Given the description of an element on the screen output the (x, y) to click on. 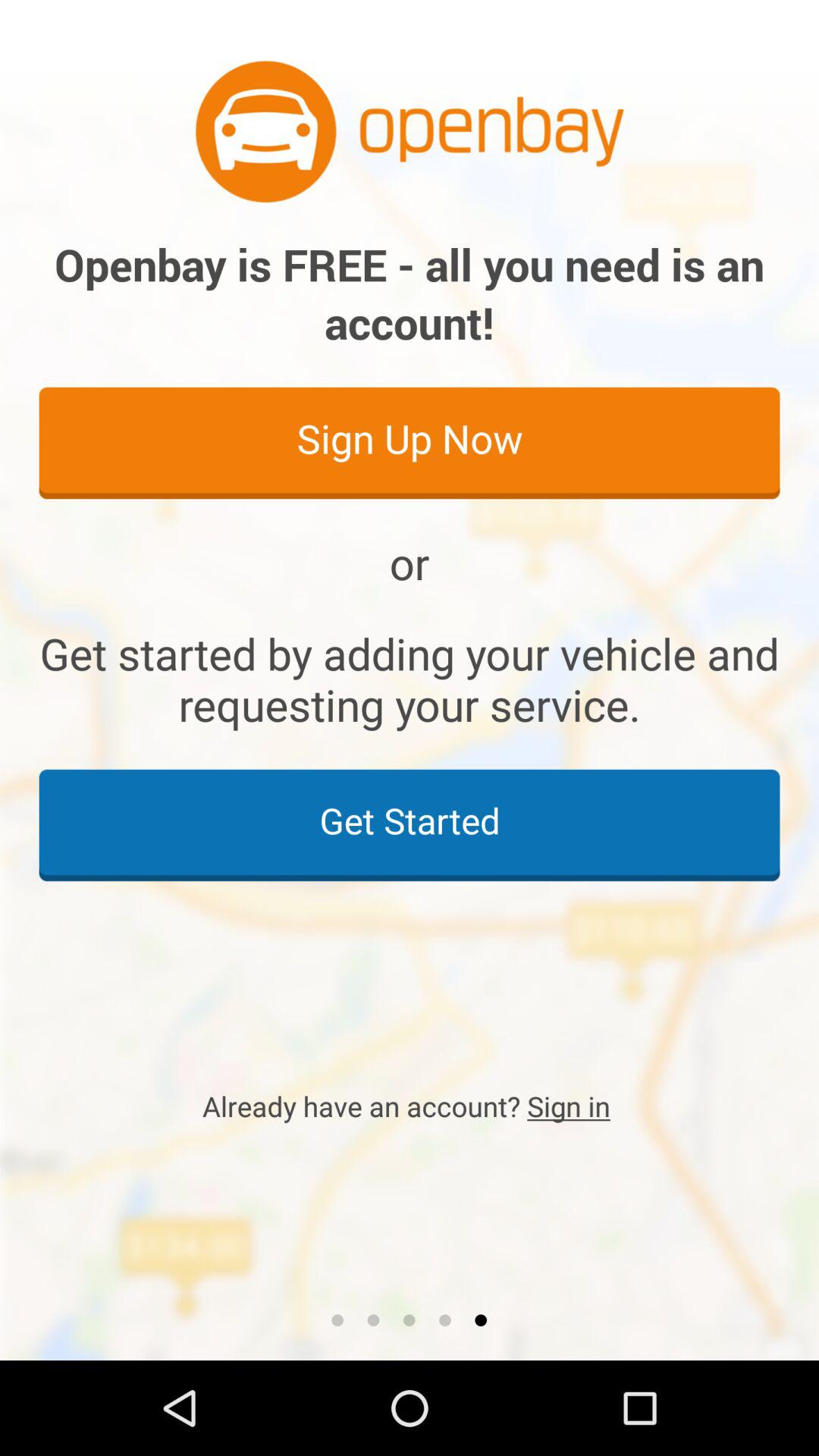
select the item below get started icon (409, 1105)
